Given the description of an element on the screen output the (x, y) to click on. 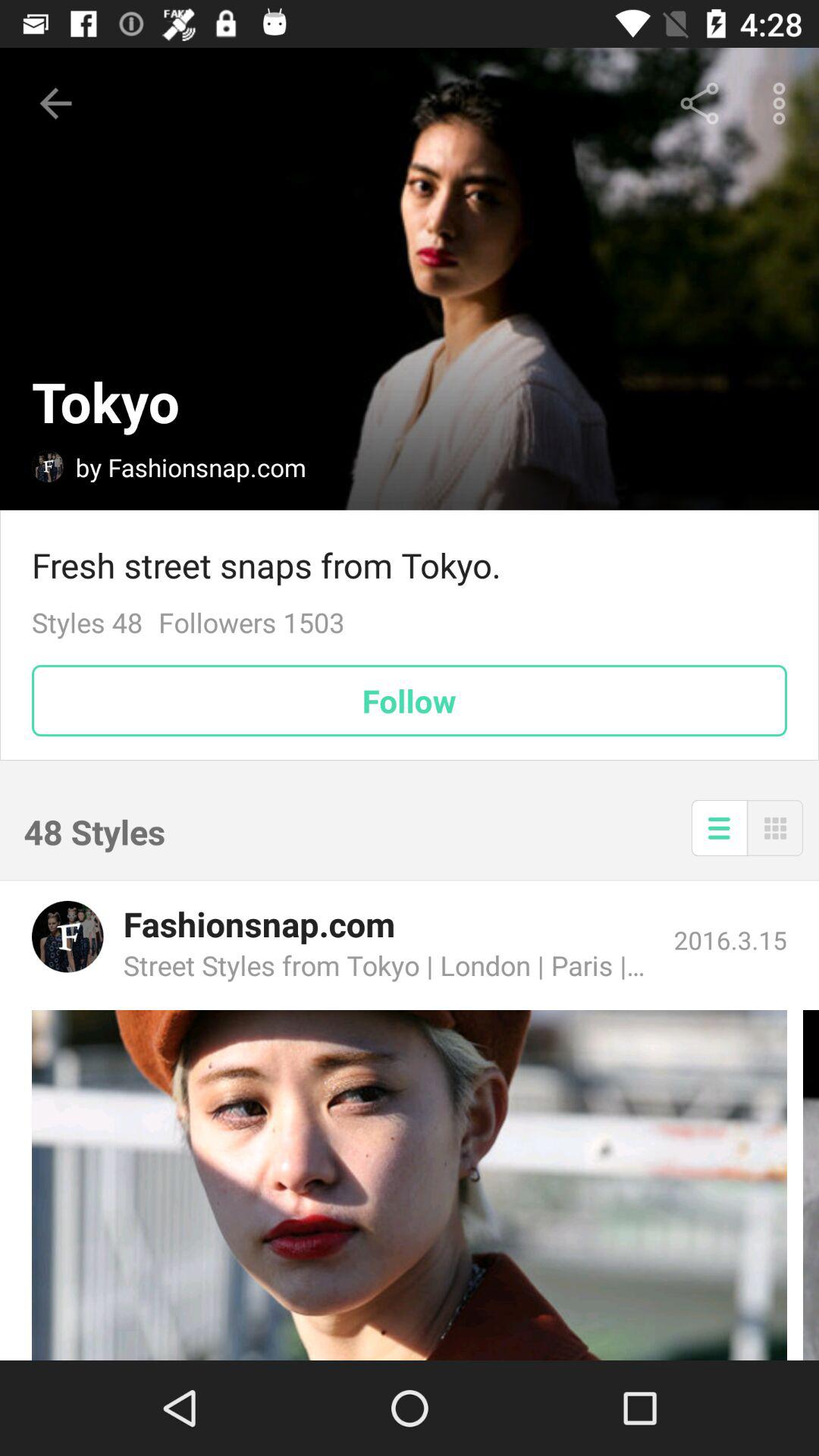
turn off follow icon (409, 700)
